Given the description of an element on the screen output the (x, y) to click on. 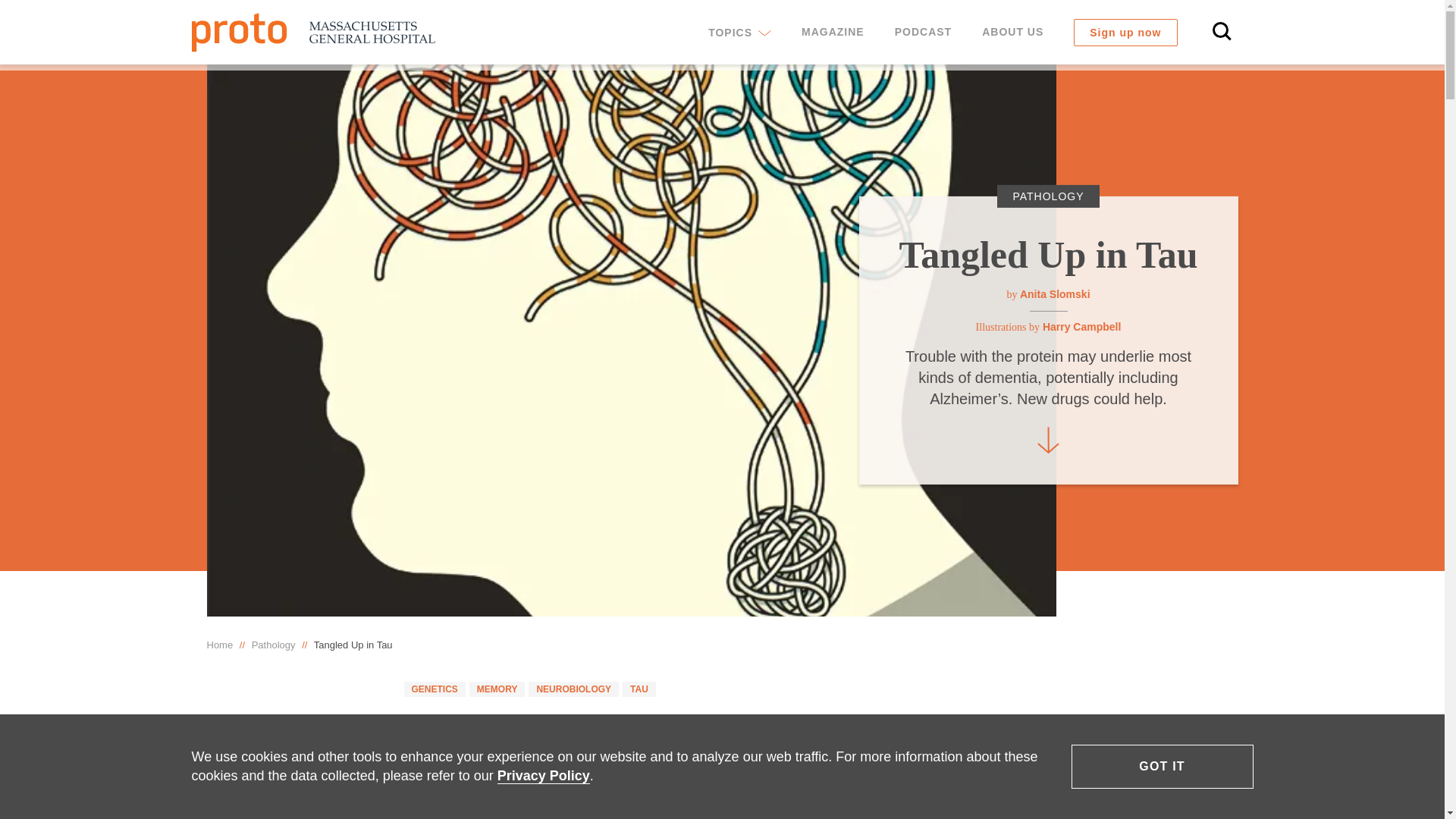
ABOUT US (1012, 32)
Search (1222, 32)
PODCAST (922, 32)
Sign up now (1125, 31)
Share on Facebook (220, 807)
Posts by Anita Slomski (1055, 294)
TOPICS (739, 32)
SCROLL DOWN (1047, 435)
Proto Magazine (311, 31)
MAGAZINE (832, 32)
Proto Magazine (311, 31)
